Given the description of an element on the screen output the (x, y) to click on. 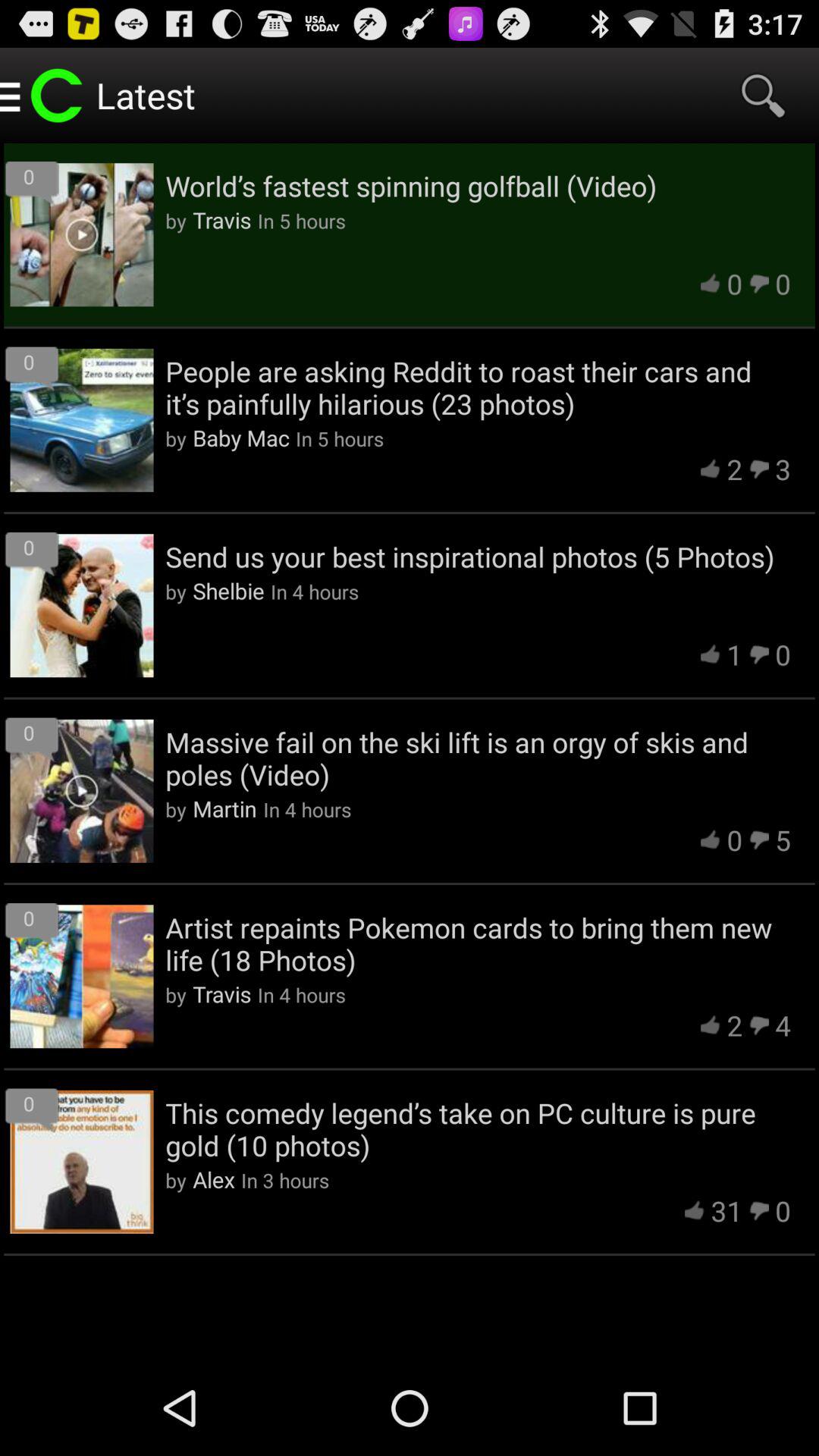
select item above the world s fastest app (763, 95)
